Given the description of an element on the screen output the (x, y) to click on. 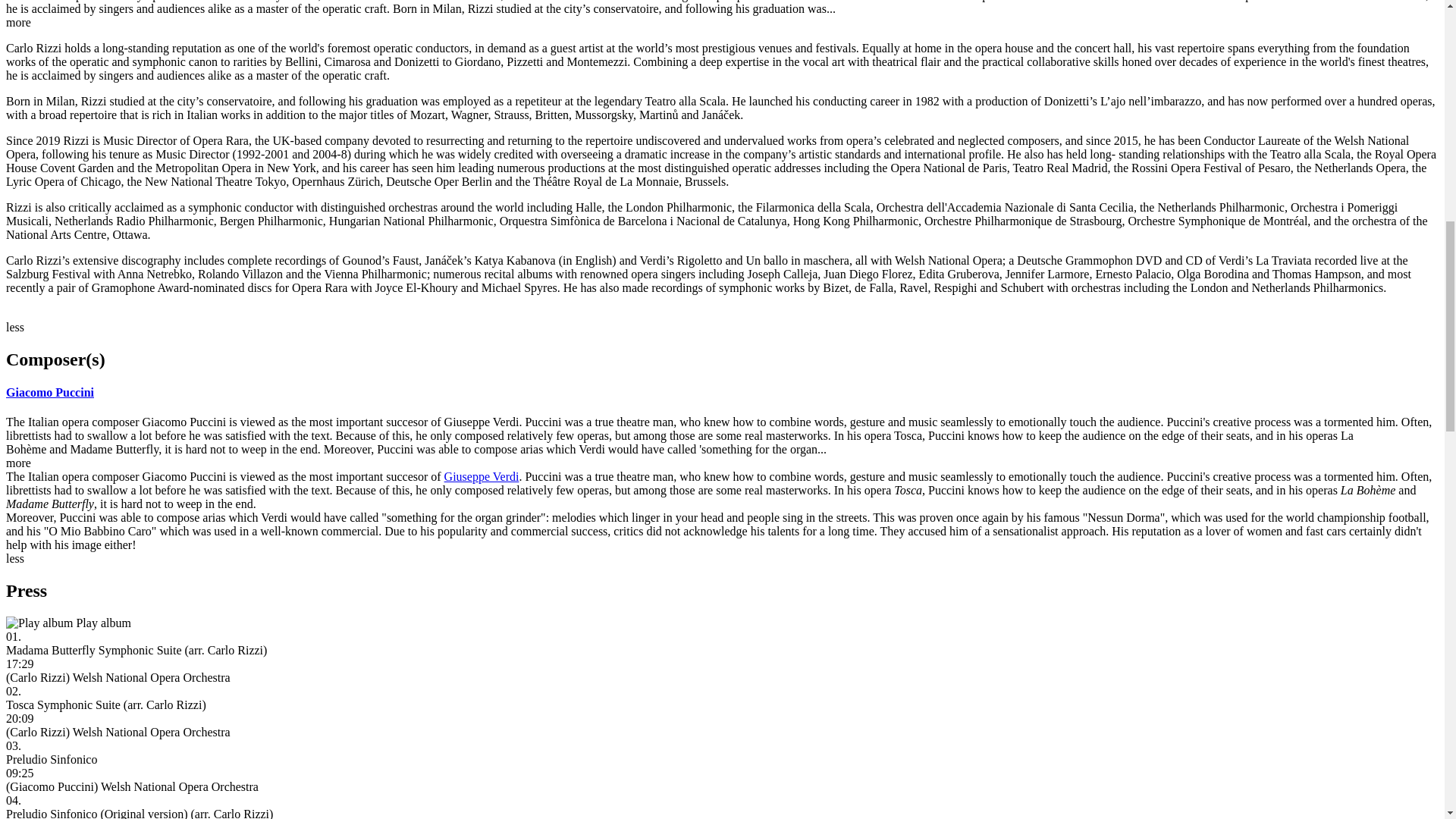
Play album (38, 622)
Giacomo Puccini (49, 391)
Giuseppe Verdi (481, 476)
